Given the description of an element on the screen output the (x, y) to click on. 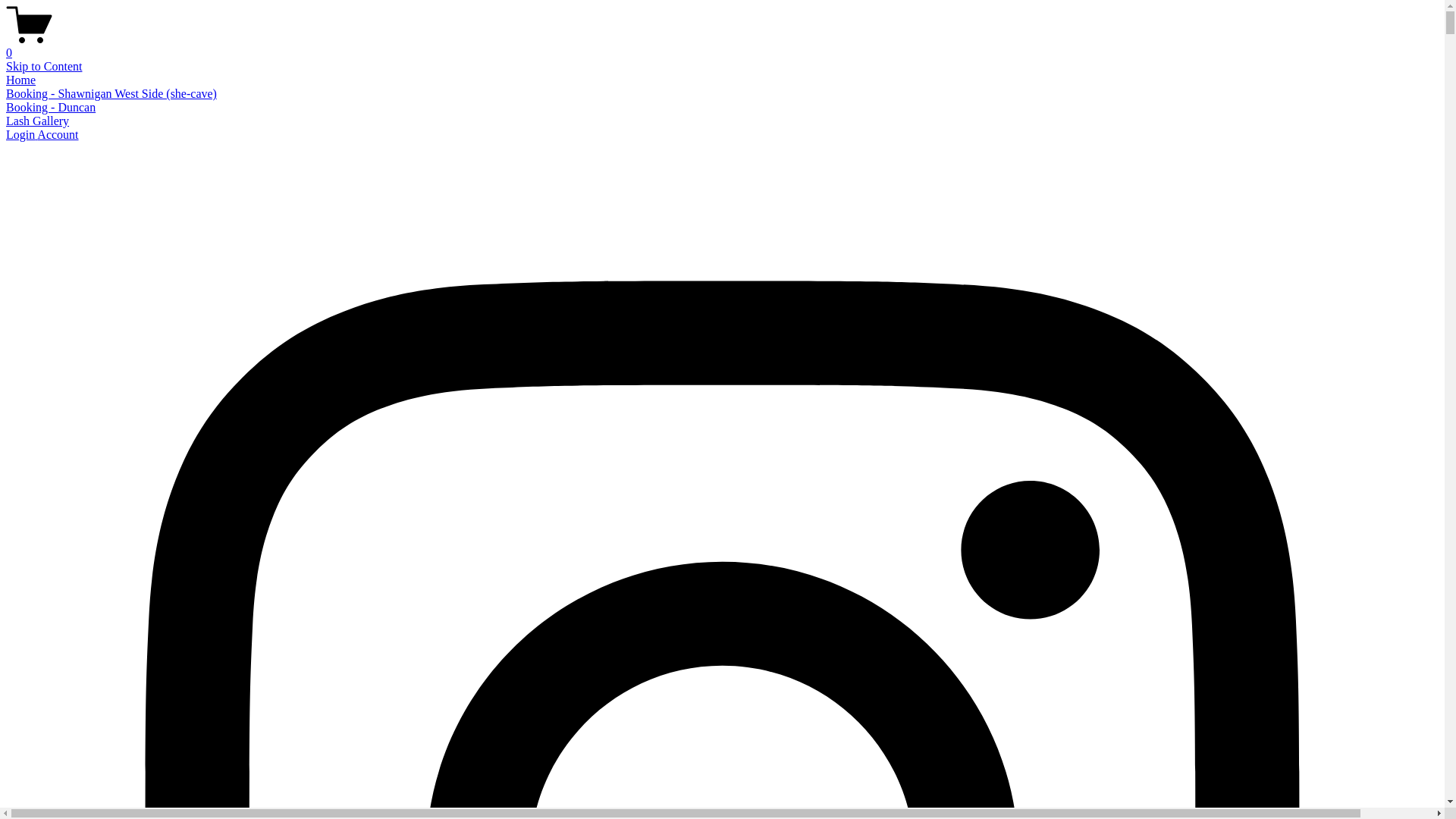
Login Account Element type: text (42, 134)
Home Element type: text (20, 79)
Booking - Shawnigan West Side (she-cave) Element type: text (111, 93)
Skip to Content Element type: text (43, 65)
Lash Gallery Element type: text (37, 120)
Booking - Duncan Element type: text (50, 106)
0 Element type: text (722, 45)
